Given the description of an element on the screen output the (x, y) to click on. 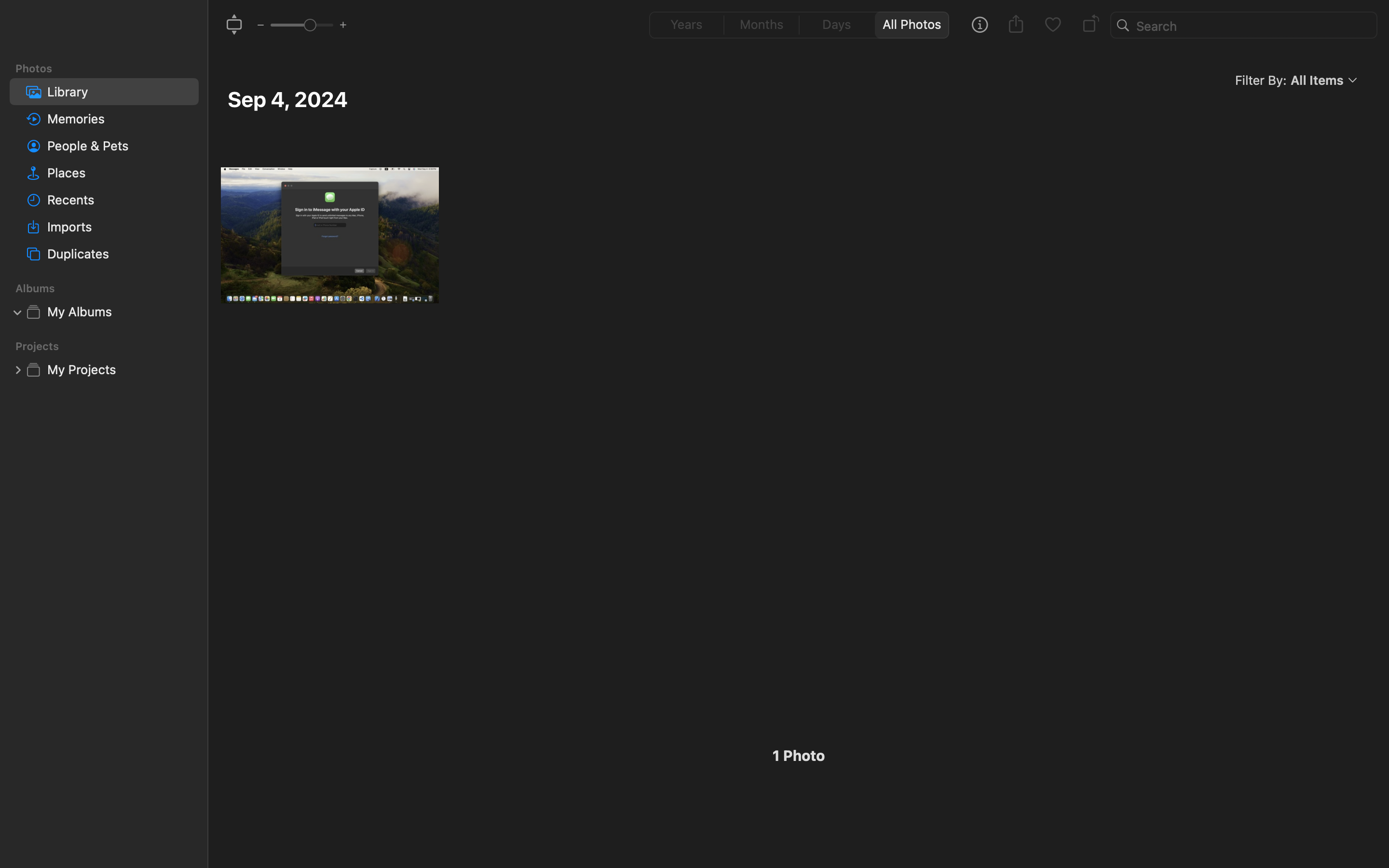
Duplicates Element type: AXStaticText (118, 253)
<AXUIElement 0x136648a80> {pid=5430} Element type: AXRadioGroup (798, 24)
0 Element type: AXCheckBox (1052, 25)
My Projects Element type: AXStaticText (118, 369)
1 Photo Element type: AXStaticText (798, 755)
